Given the description of an element on the screen output the (x, y) to click on. 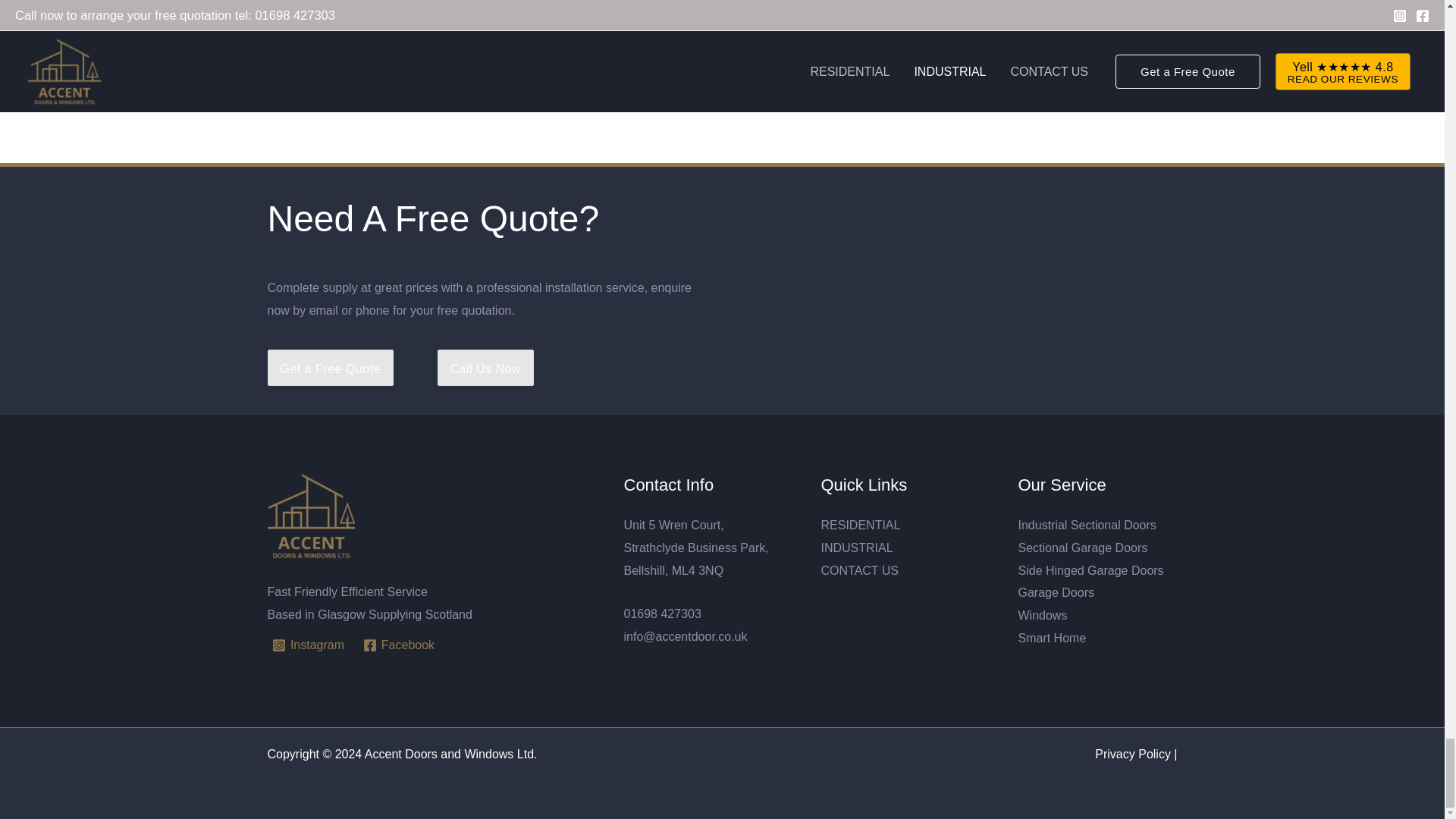
Call Us Now (485, 368)
Get a Free Quote (329, 367)
Call Us Now (485, 367)
Get a Free Quote (331, 368)
